Given the description of an element on the screen output the (x, y) to click on. 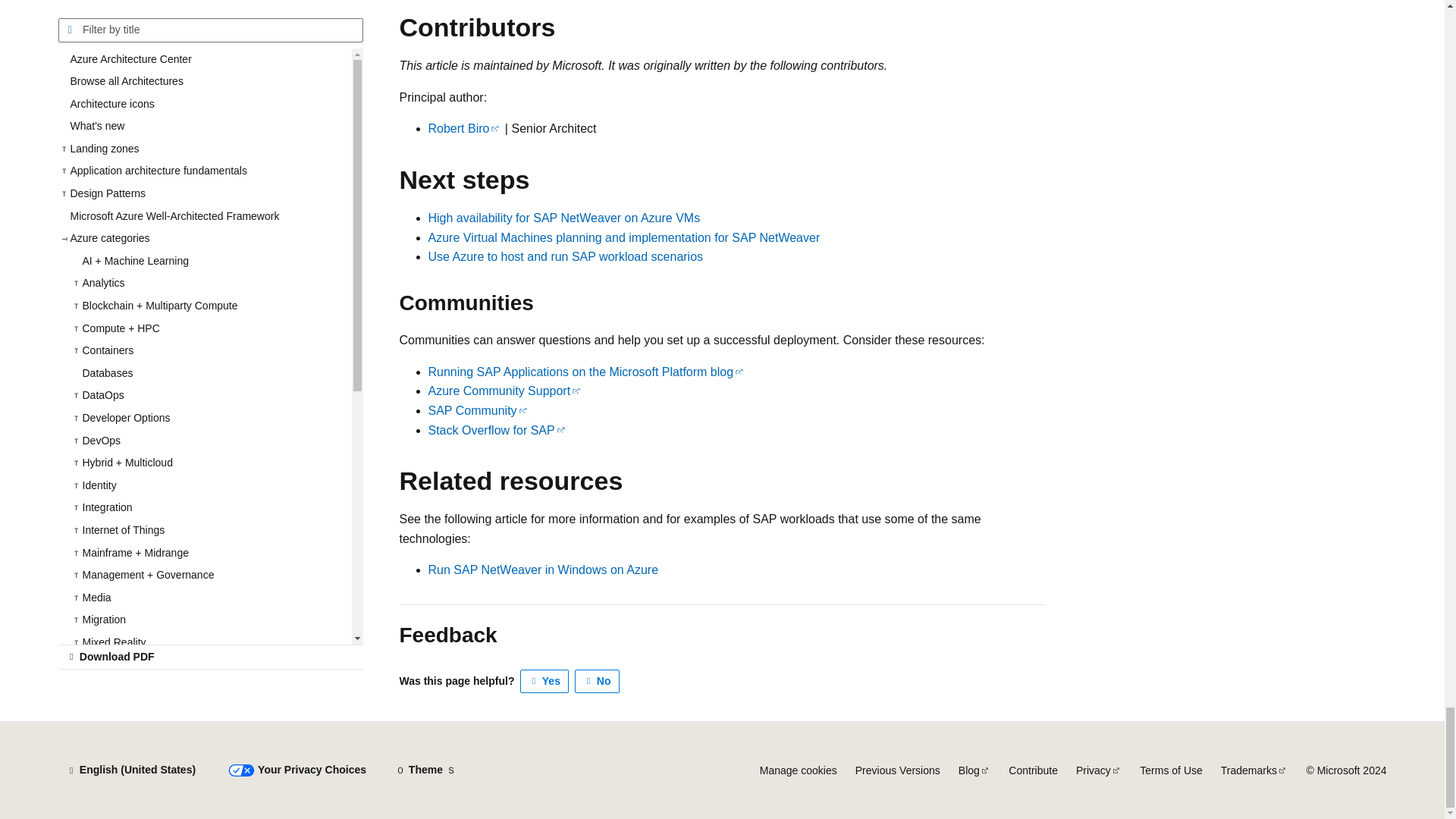
This article is helpful (544, 681)
Theme (425, 770)
This article is not helpful (597, 681)
